Given the description of an element on the screen output the (x, y) to click on. 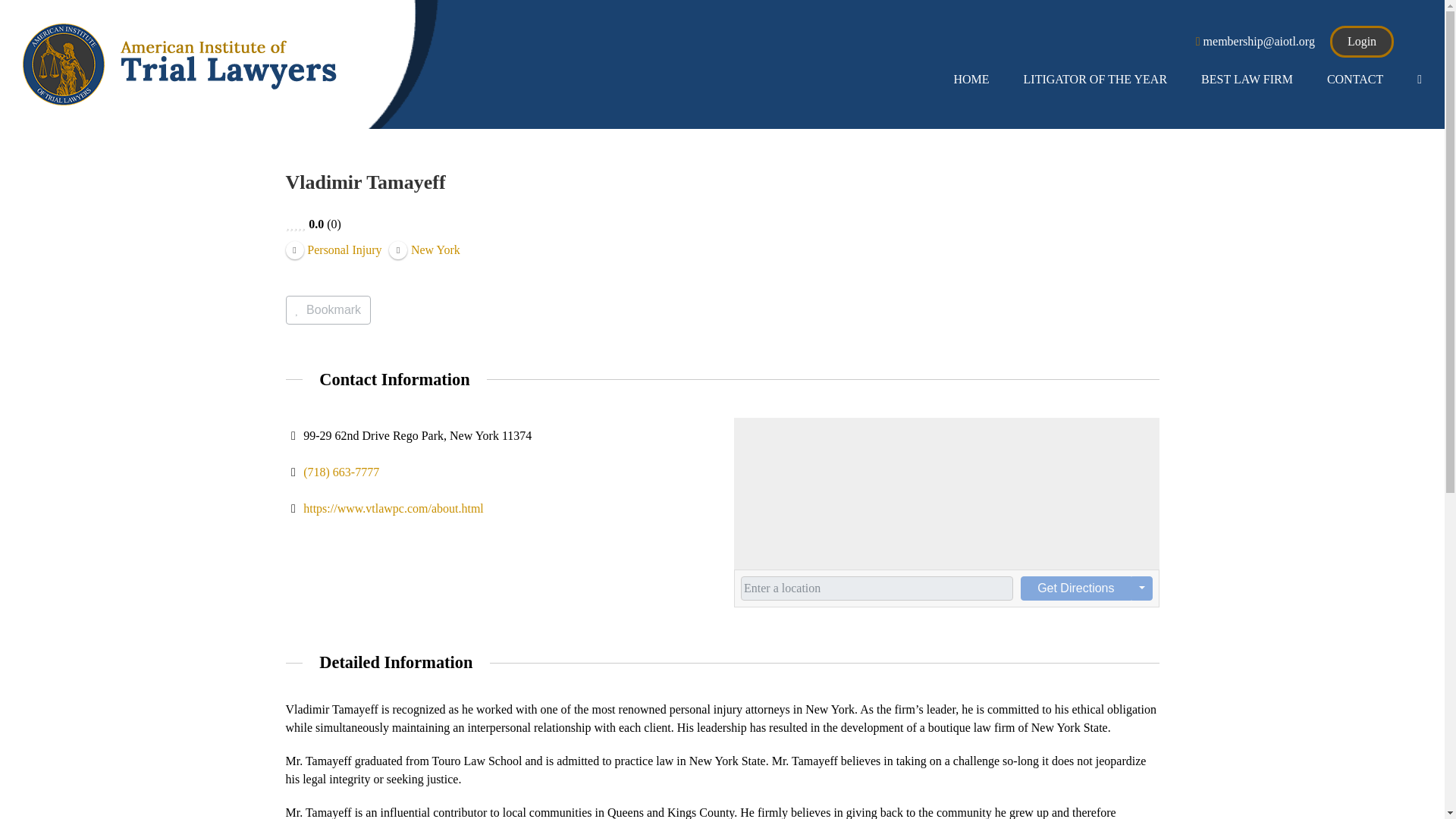
New York (424, 247)
Personal Injury (333, 247)
Personal Injury (333, 247)
0.00 out of 5 stars (295, 224)
Get Directions (1075, 588)
Bookmark (328, 309)
Login (1361, 41)
LITIGATOR OF THE YEAR (1095, 79)
New York (424, 247)
